Given the description of an element on the screen output the (x, y) to click on. 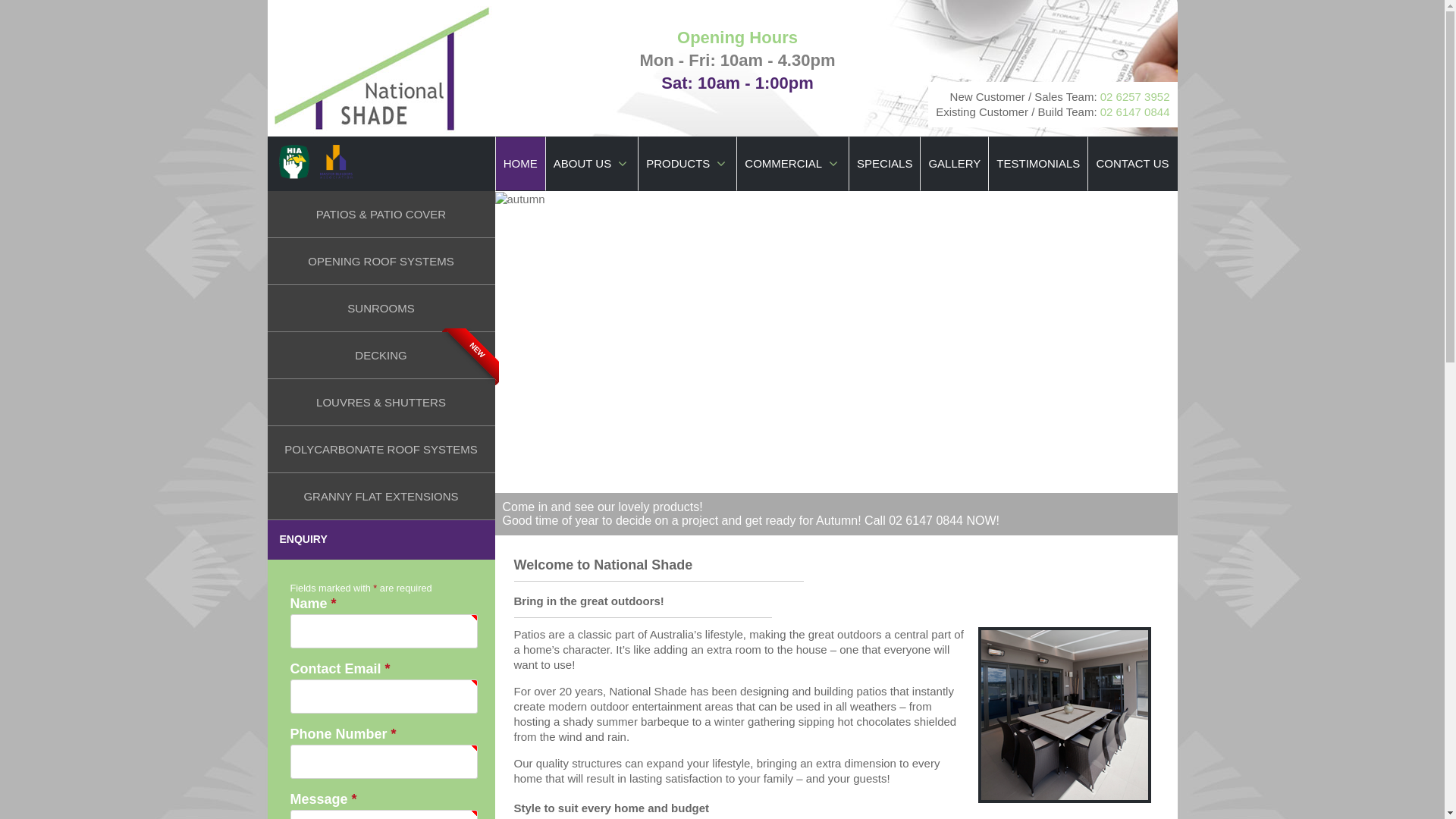
CONTACT US Element type: text (1132, 163)
GALLERY Element type: text (954, 163)
LOUVRES & SHUTTERS Element type: text (380, 402)
more information on our insulated roofs Element type: text (607, 520)
02 6257 3952 Element type: text (1135, 96)
PATIOS & PATIO COVER Element type: text (380, 214)
ABOUT US Element type: text (591, 163)
DECKING
NEW Element type: text (380, 355)
TESTIMONIALS Element type: text (1037, 163)
SPECIALS Element type: text (884, 163)
POLYCARBONATE ROOF SYSTEMS Element type: text (380, 449)
SUNROOMS Element type: text (380, 308)
PRODUCTS Element type: text (687, 163)
GRANNY FLAT EXTENSIONS Element type: text (380, 496)
COMMERCIAL Element type: text (792, 163)
HOME Element type: text (520, 163)
02 6147 0844 Element type: text (1135, 111)
OPENING ROOF SYSTEMS Element type: text (380, 261)
